Given the description of an element on the screen output the (x, y) to click on. 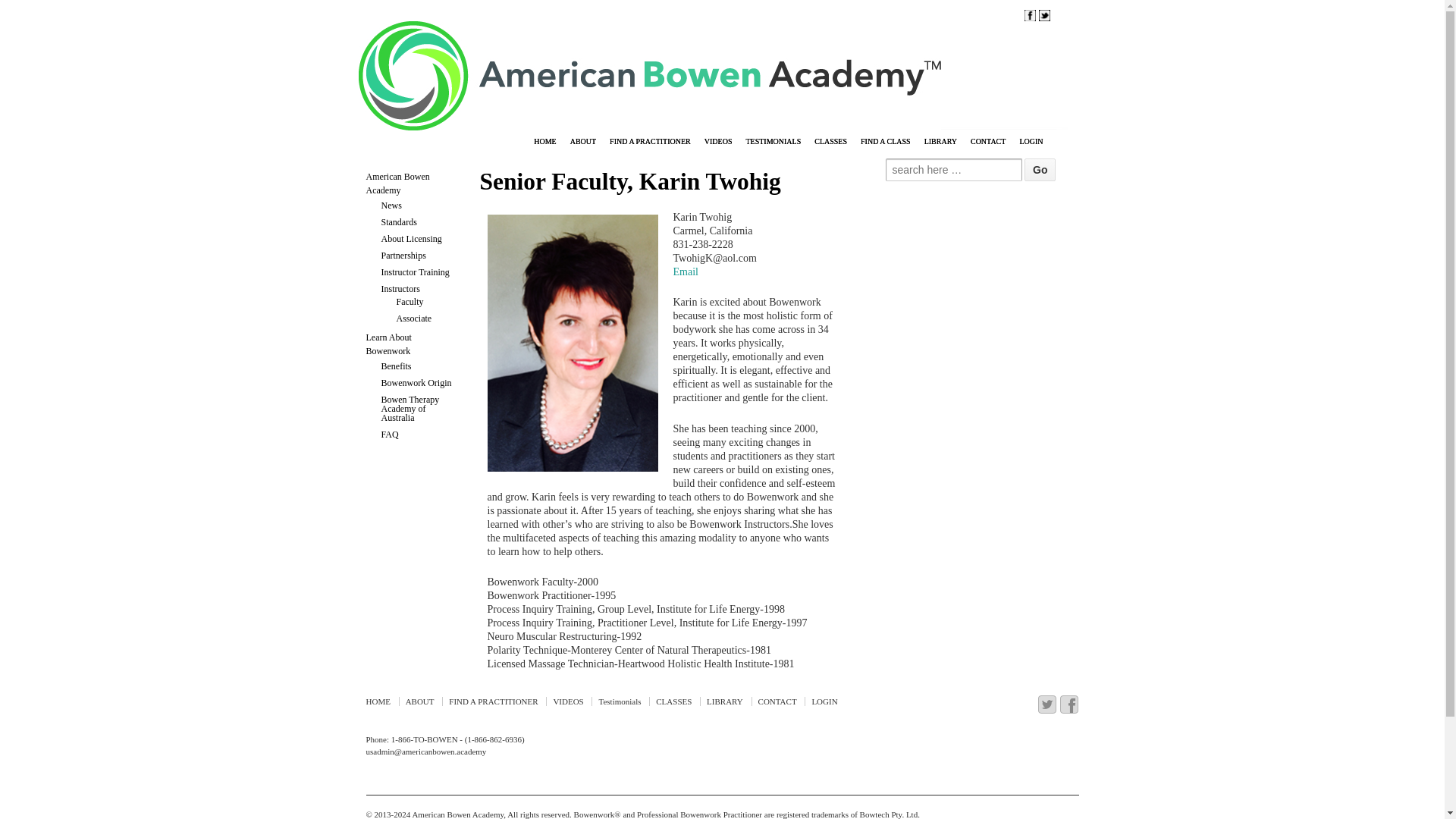
CLASSES (830, 142)
FIND A CLASS (885, 142)
Go (1040, 169)
ABOUT (582, 142)
American Bowen Academy (456, 814)
TESTIMONIALS (773, 142)
HOME (544, 142)
LIBRARY (940, 142)
VIDEOS (718, 142)
CONTACT (987, 142)
FIND A PRACTITIONER (649, 142)
